Given the description of an element on the screen output the (x, y) to click on. 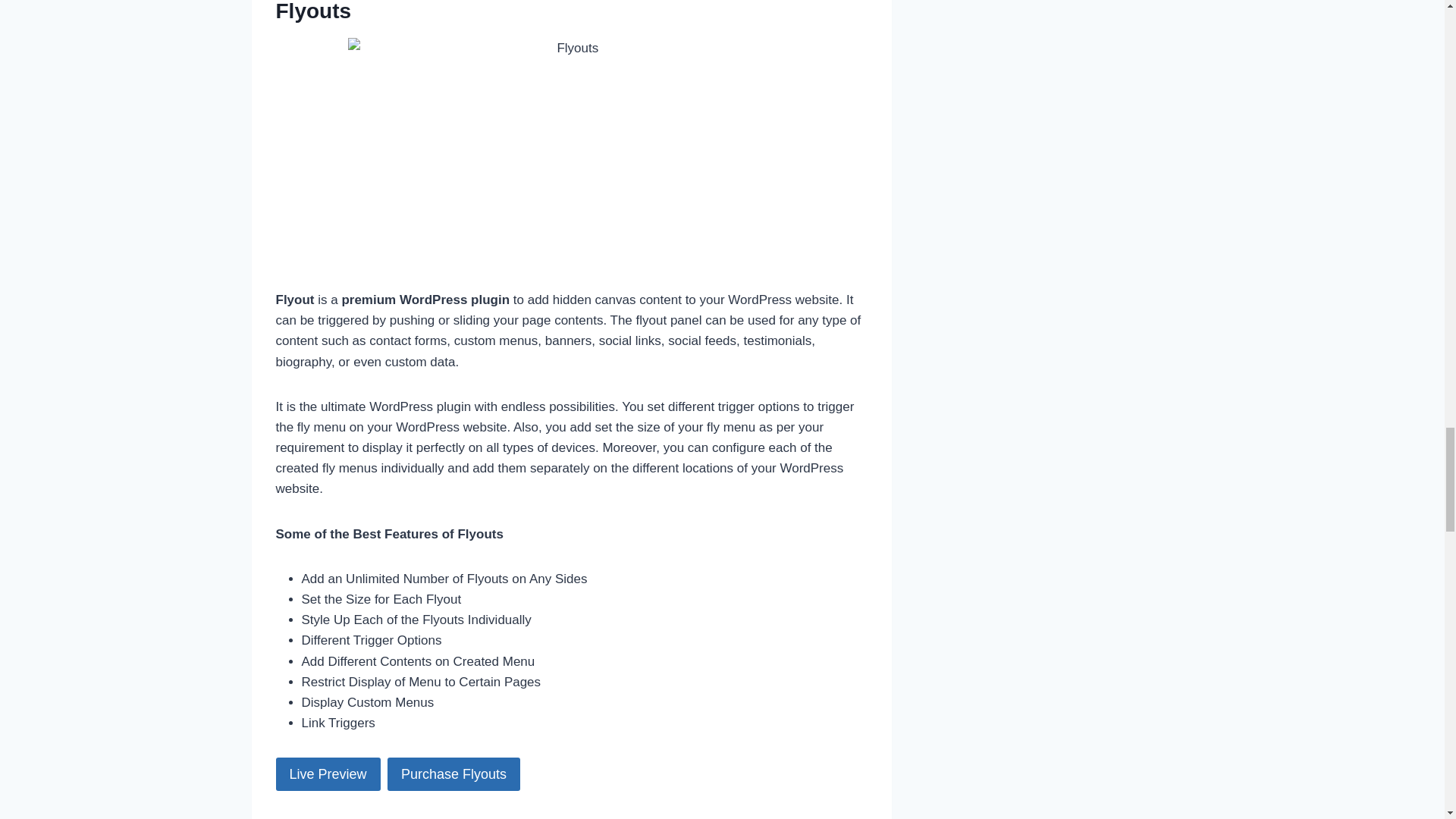
Live Preview (328, 773)
Flyouts (314, 11)
Purchase Flyouts (453, 773)
